Given the description of an element on the screen output the (x, y) to click on. 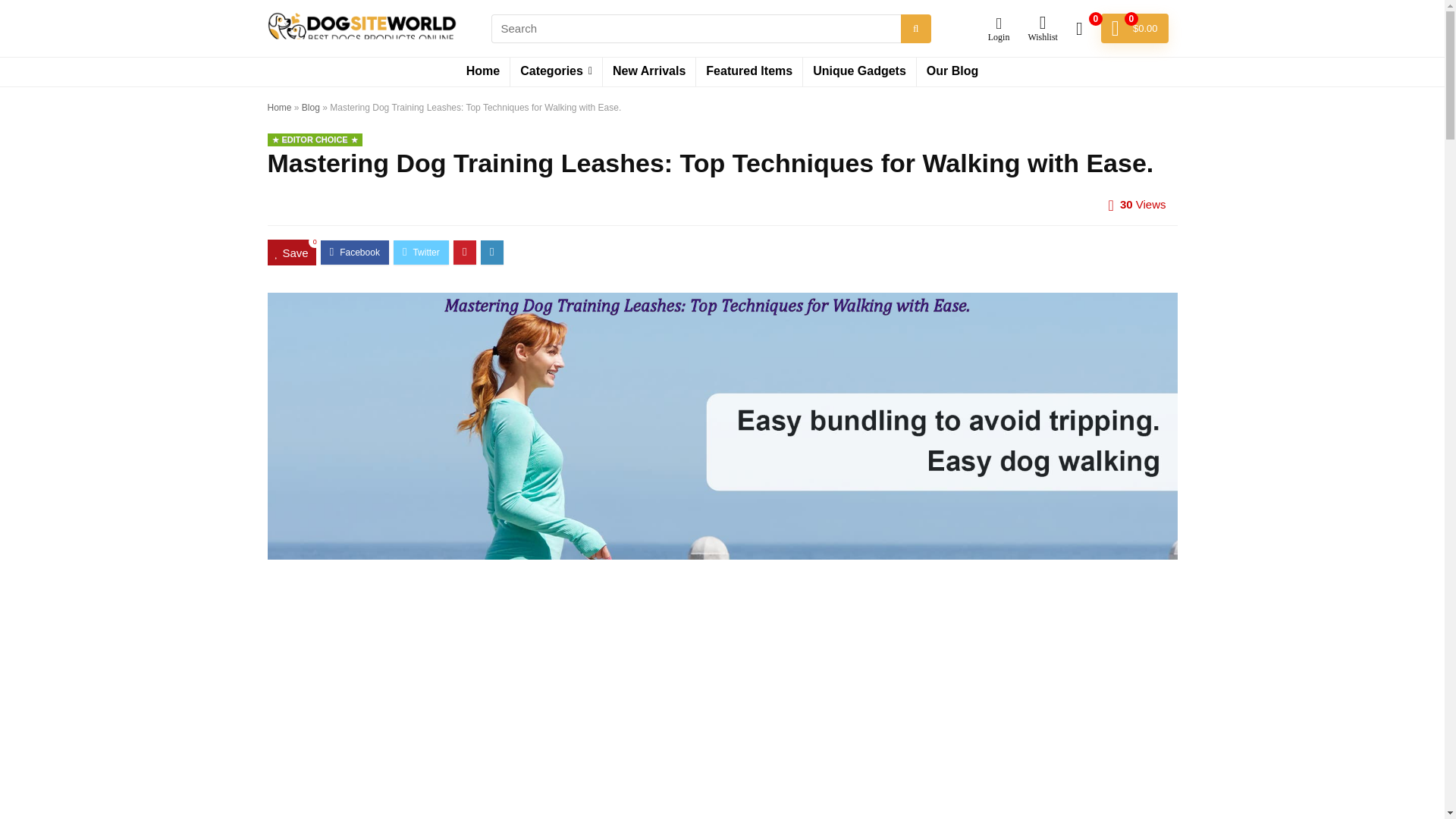
Home (278, 107)
Categories (556, 71)
Home (483, 71)
Unique Gadgets (859, 71)
Our Blog (952, 71)
Blog (310, 107)
New Arrivals (648, 71)
Featured Items (748, 71)
